Given the description of an element on the screen output the (x, y) to click on. 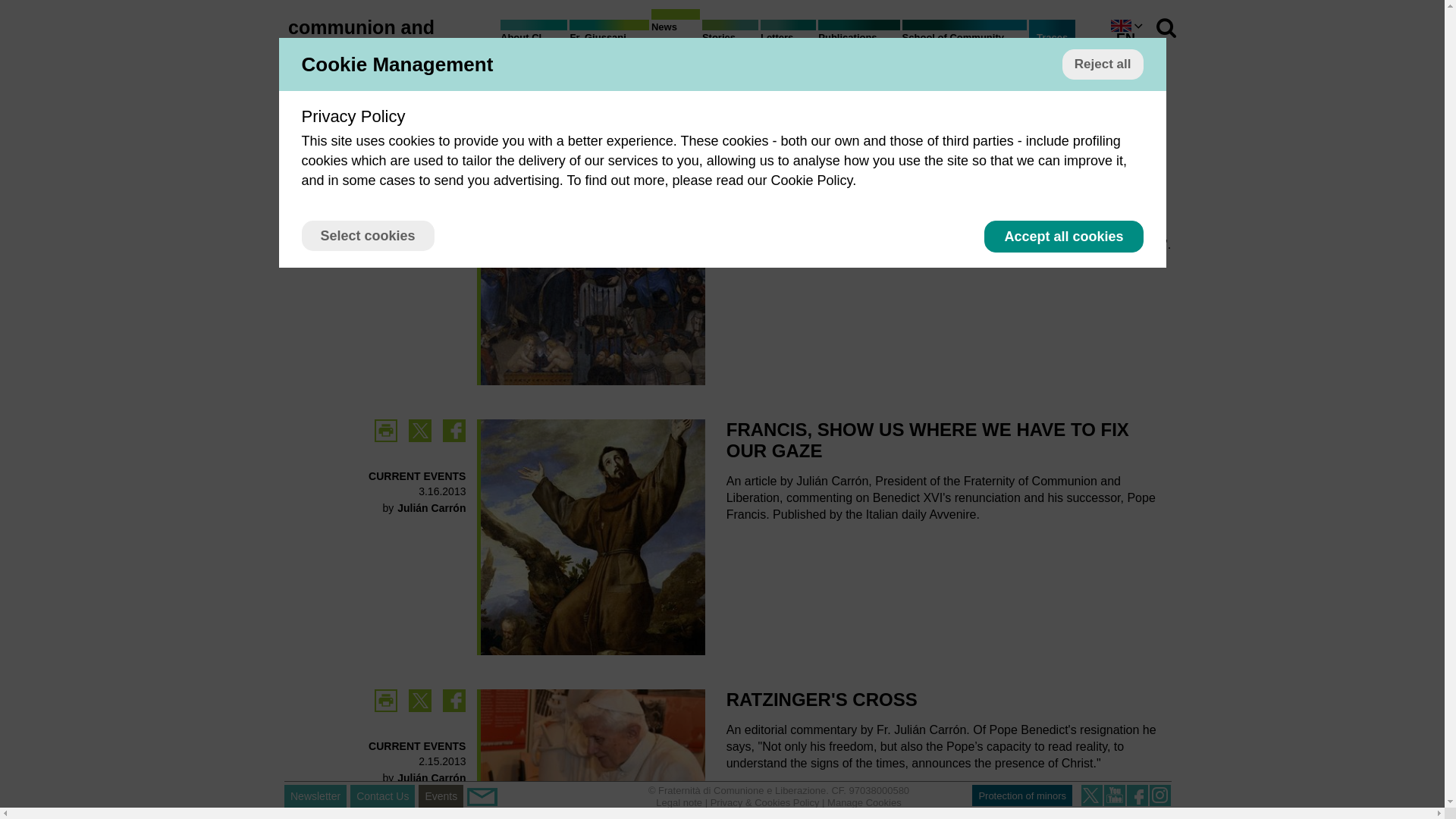
Letters (787, 40)
News (675, 29)
Publications (858, 40)
Traces (1052, 37)
About CL (533, 40)
Stories (729, 40)
Fr. Giussani (608, 40)
communion and liberation (360, 37)
School of Community (964, 40)
